Given the description of an element on the screen output the (x, y) to click on. 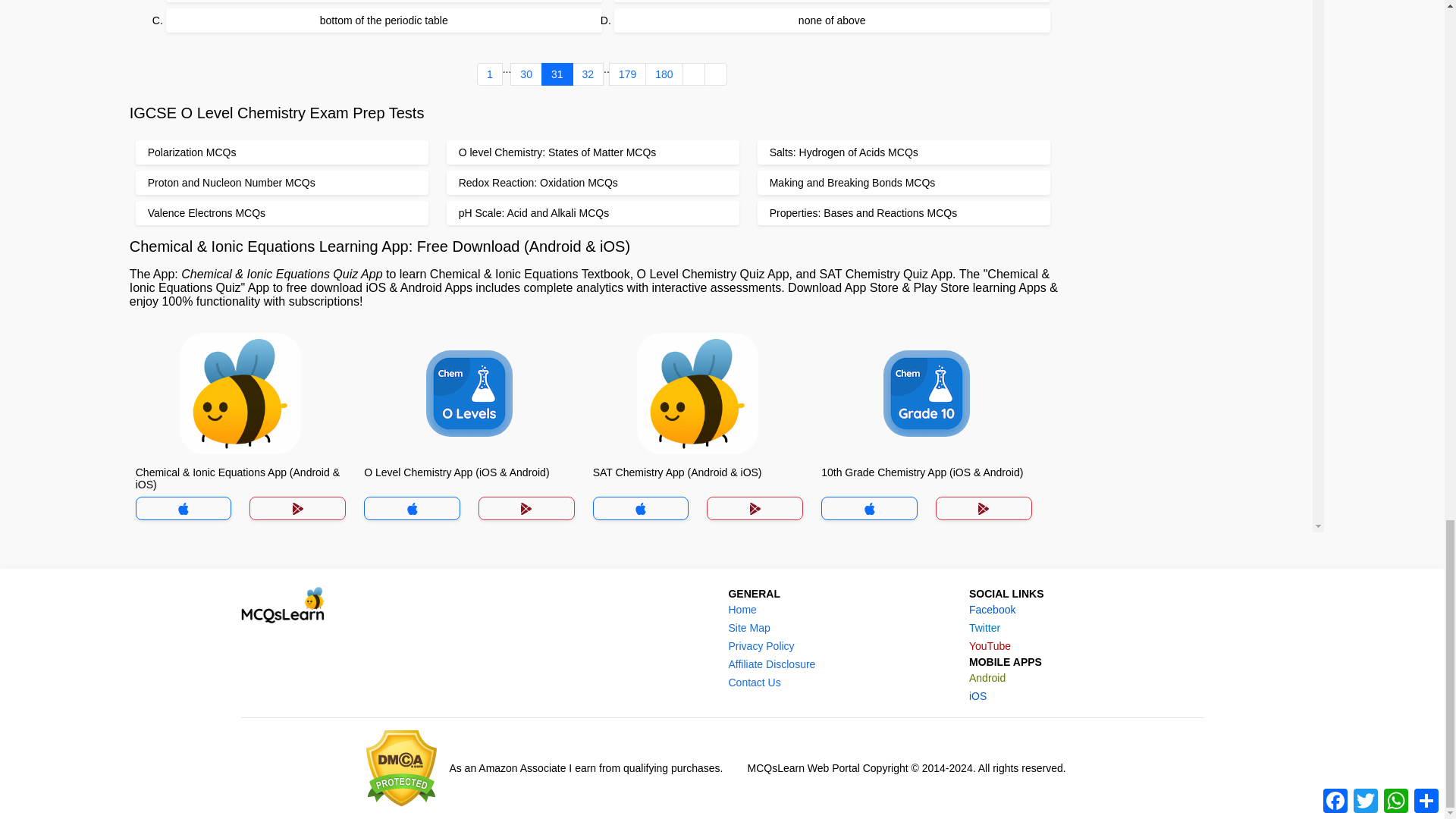
DMCA.com Protection Status (401, 768)
